Given the description of an element on the screen output the (x, y) to click on. 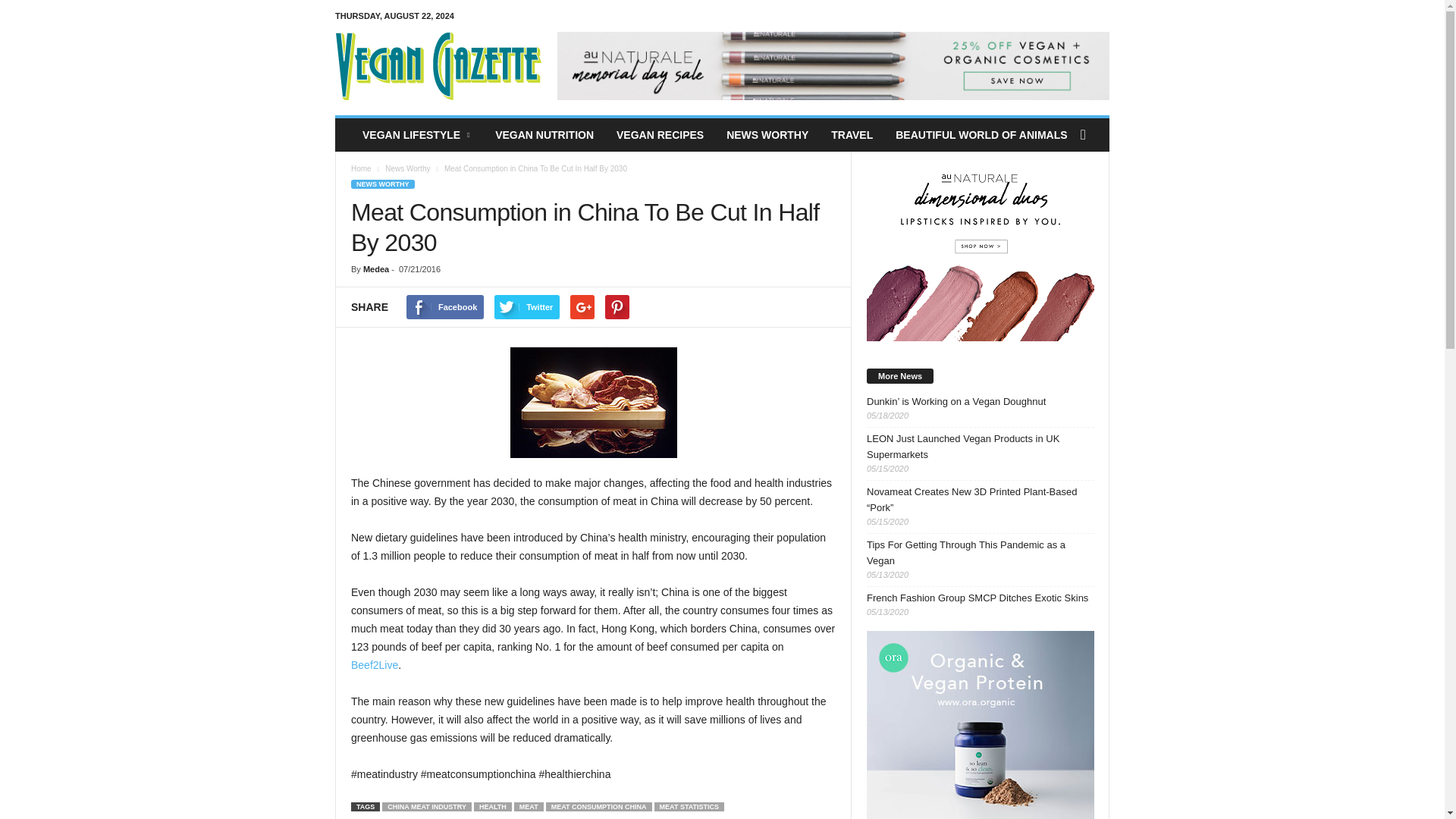
Home (360, 168)
Medea (375, 268)
Facebook (444, 306)
VEGAN RECIPES (659, 134)
NEWS WORTHY (766, 134)
TRAVEL (851, 134)
VEGAN LIFESTYLE (416, 134)
BEAUTIFUL WORLD OF ANIMALS (980, 134)
NEWS WORTHY (382, 184)
News Worthy (407, 168)
